Given the description of an element on the screen output the (x, y) to click on. 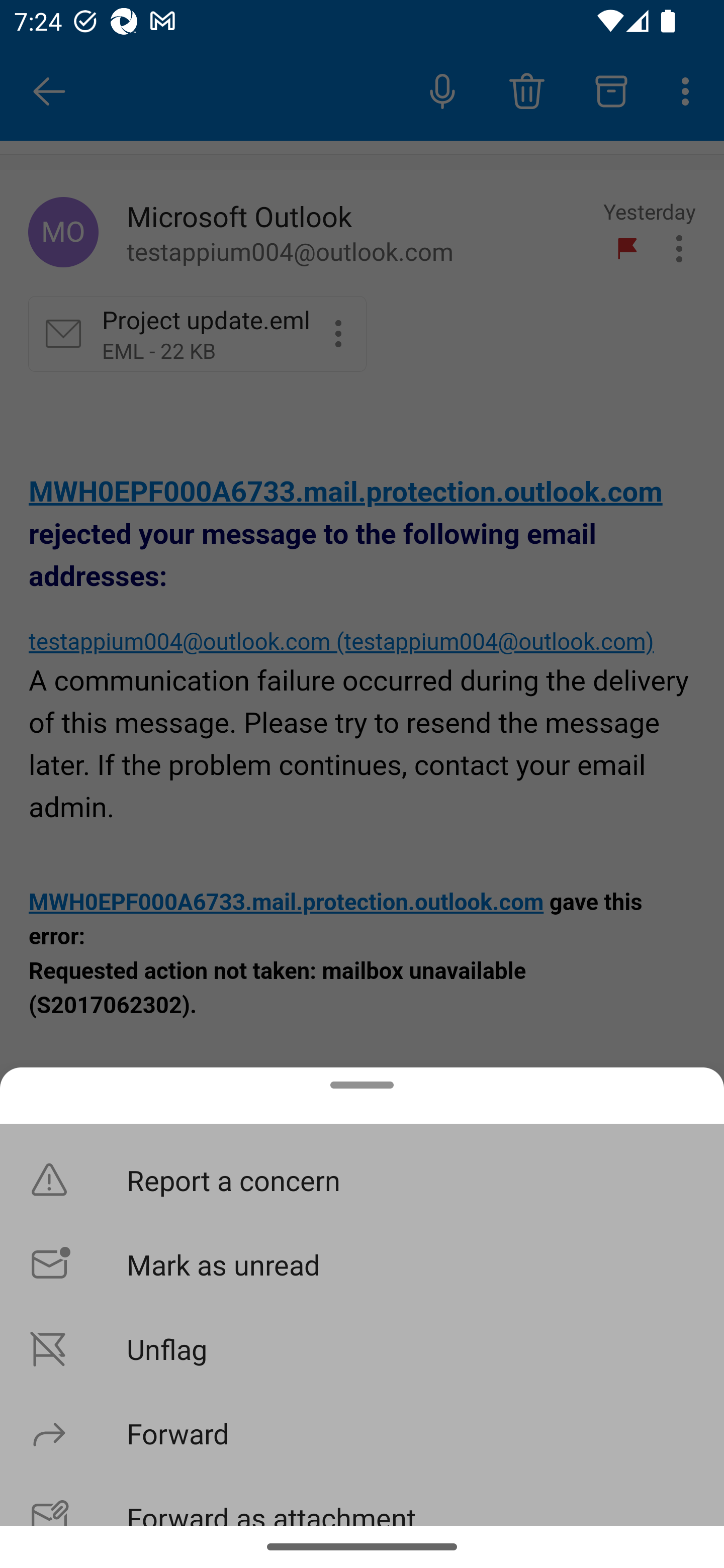
Report a concern (362, 1179)
Mark as unread (362, 1263)
Unflag (362, 1348)
Forward (362, 1432)
Forward as attachment (362, 1500)
